Given the description of an element on the screen output the (x, y) to click on. 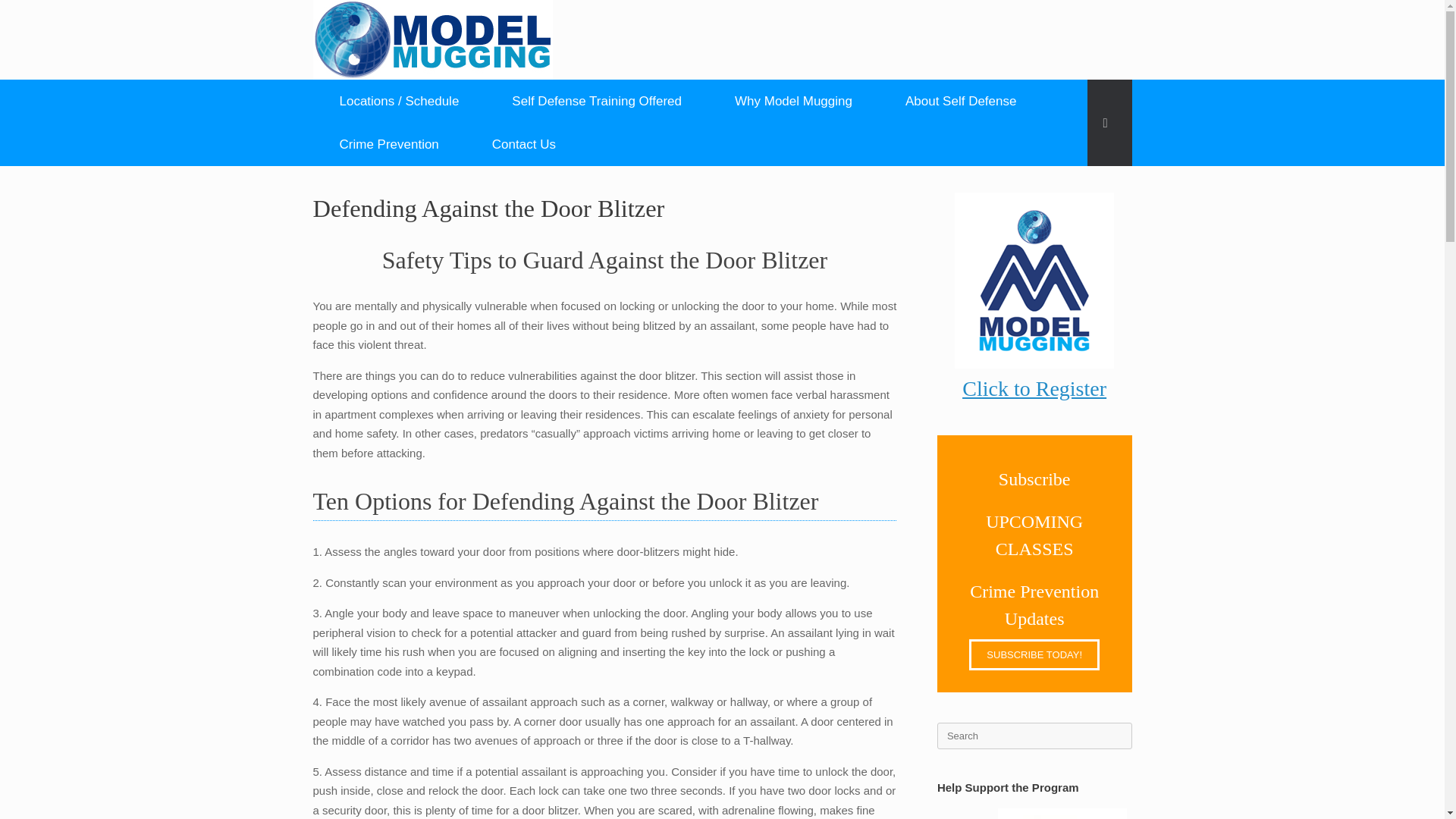
Why Model Mugging (793, 100)
Model Mugging Self Defense (432, 39)
Self Defense Training Offered (595, 100)
